Given the description of an element on the screen output the (x, y) to click on. 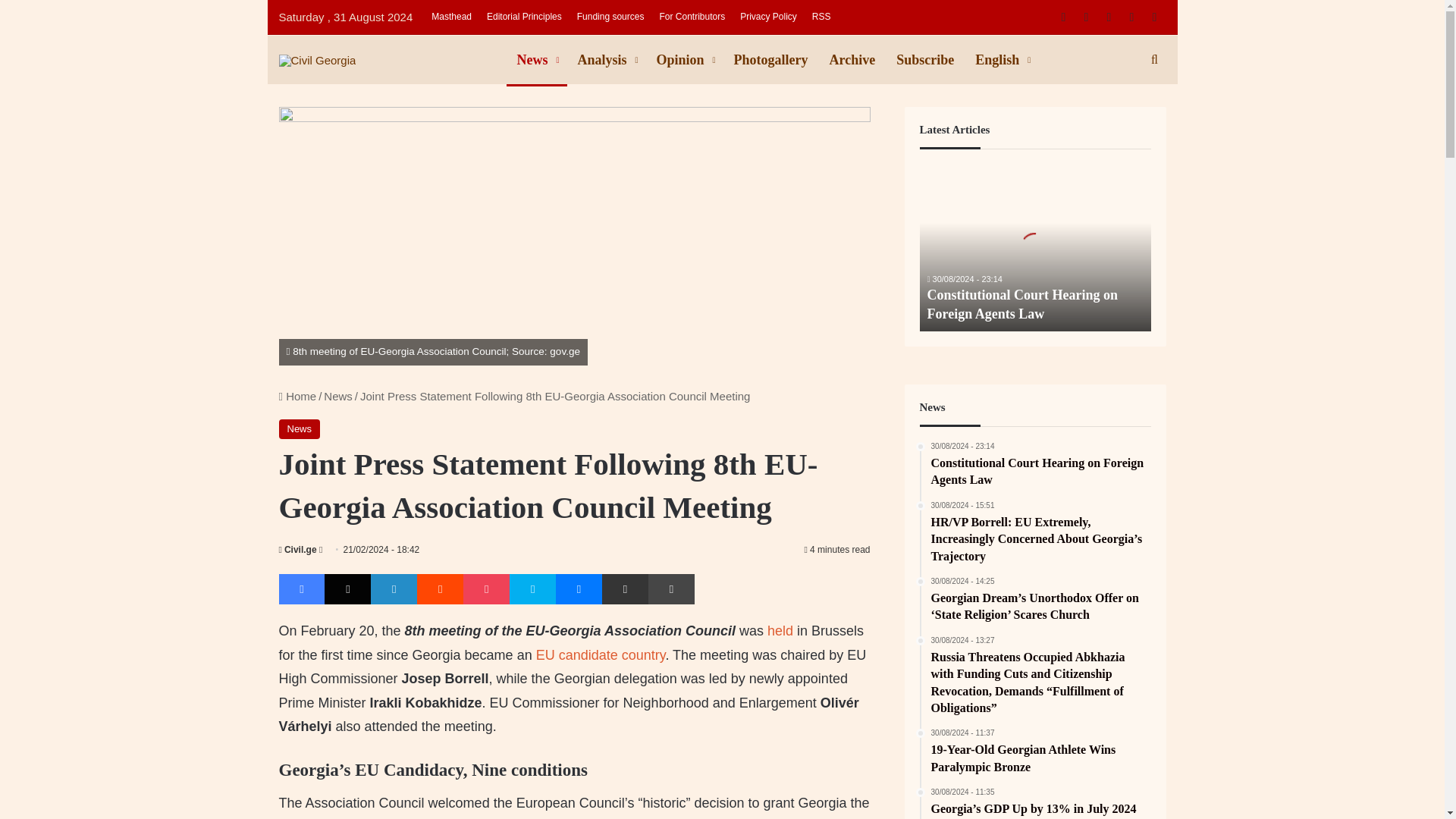
Skype (532, 589)
News (337, 395)
X (347, 589)
Pocket (486, 589)
Masthead (451, 17)
Facebook (301, 589)
Analysis (606, 60)
Civil Georgia (317, 59)
Opinion (684, 60)
News (299, 428)
